Given the description of an element on the screen output the (x, y) to click on. 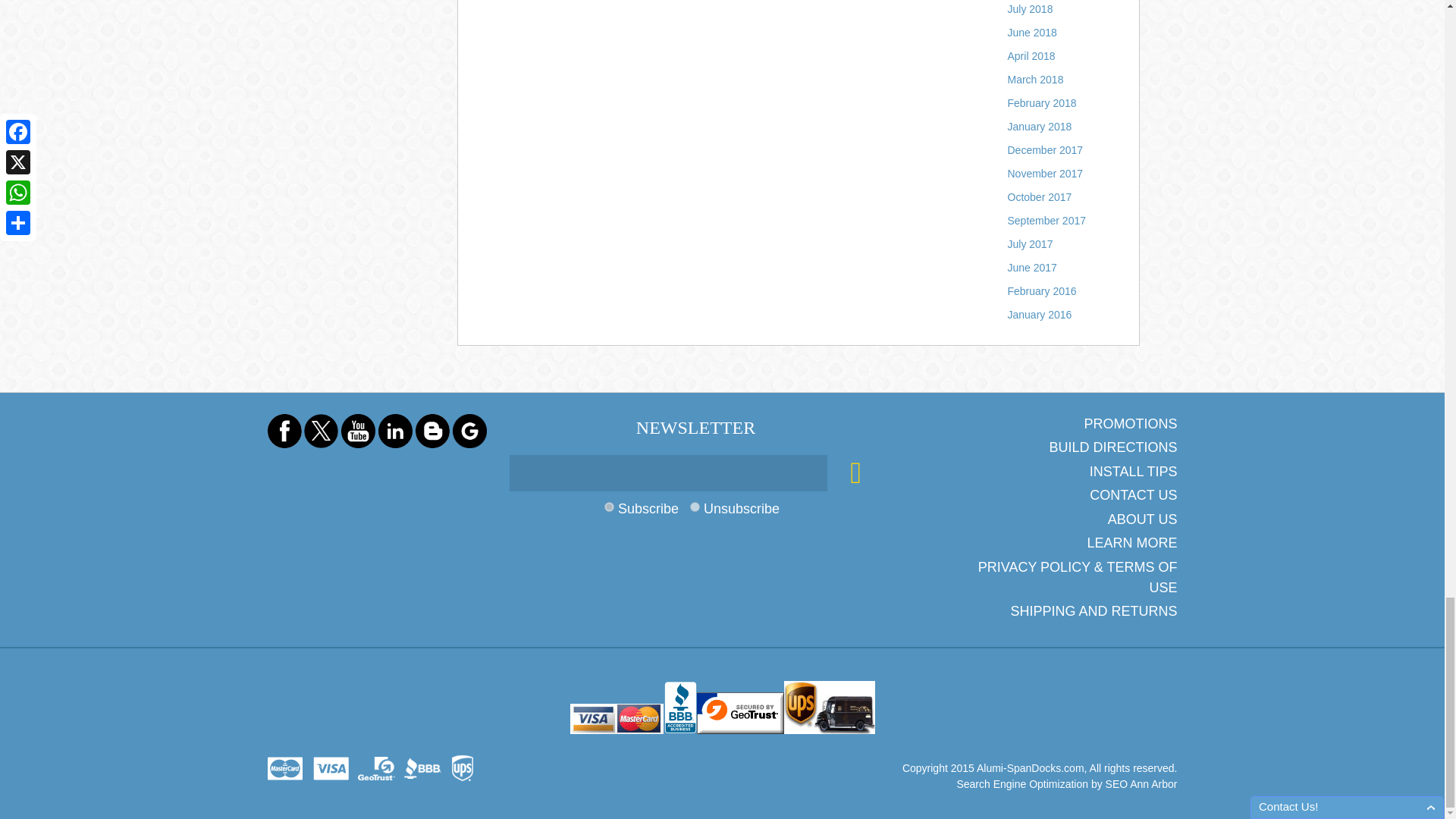
0 (695, 506)
1 (609, 506)
